Given the description of an element on the screen output the (x, y) to click on. 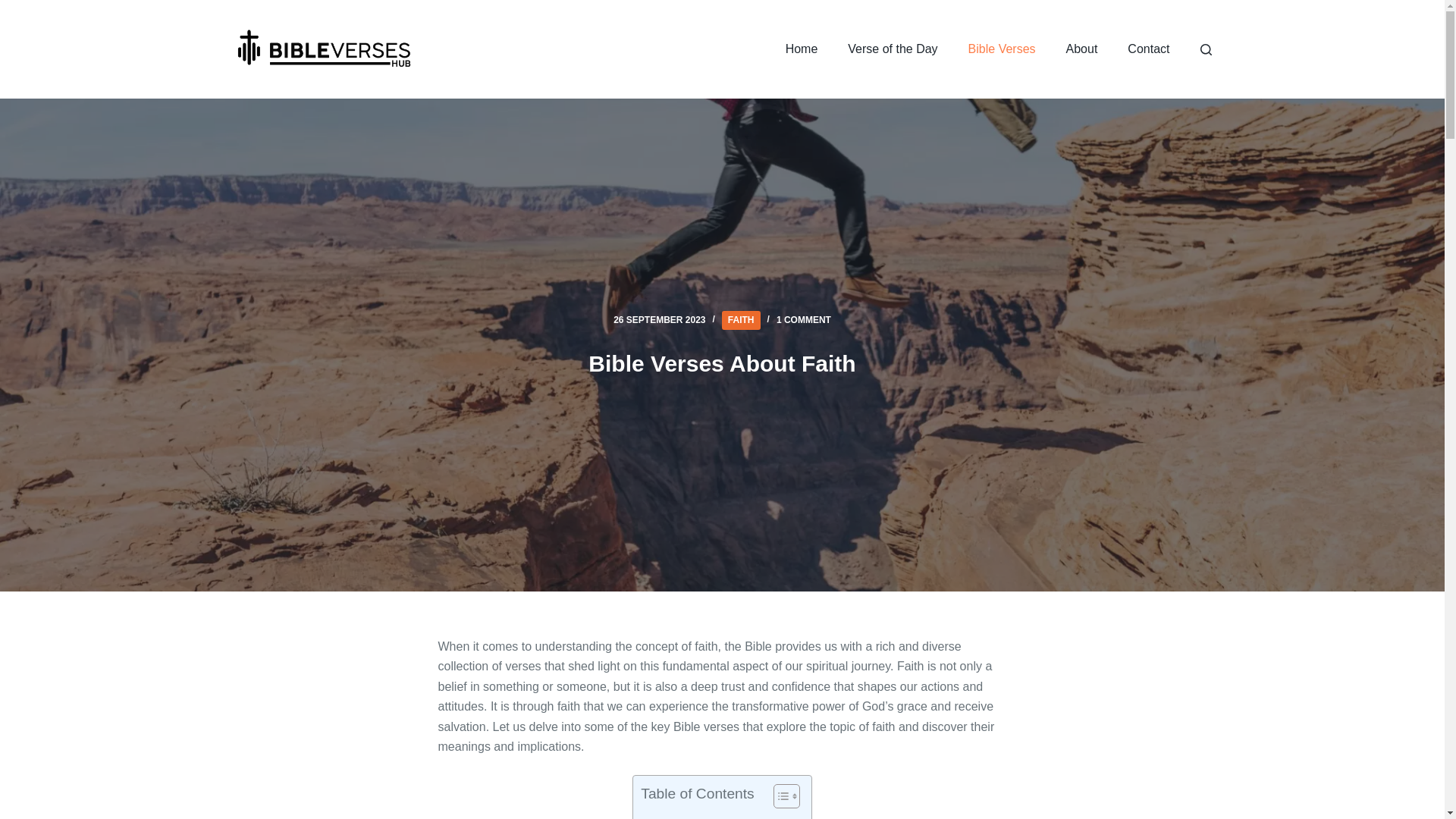
1 COMMENT (803, 319)
Bible Verses (1002, 49)
Verse of the Day (892, 49)
FAITH (741, 320)
Bible Verses About Faith (722, 363)
Skip to content (15, 7)
